Given the description of an element on the screen output the (x, y) to click on. 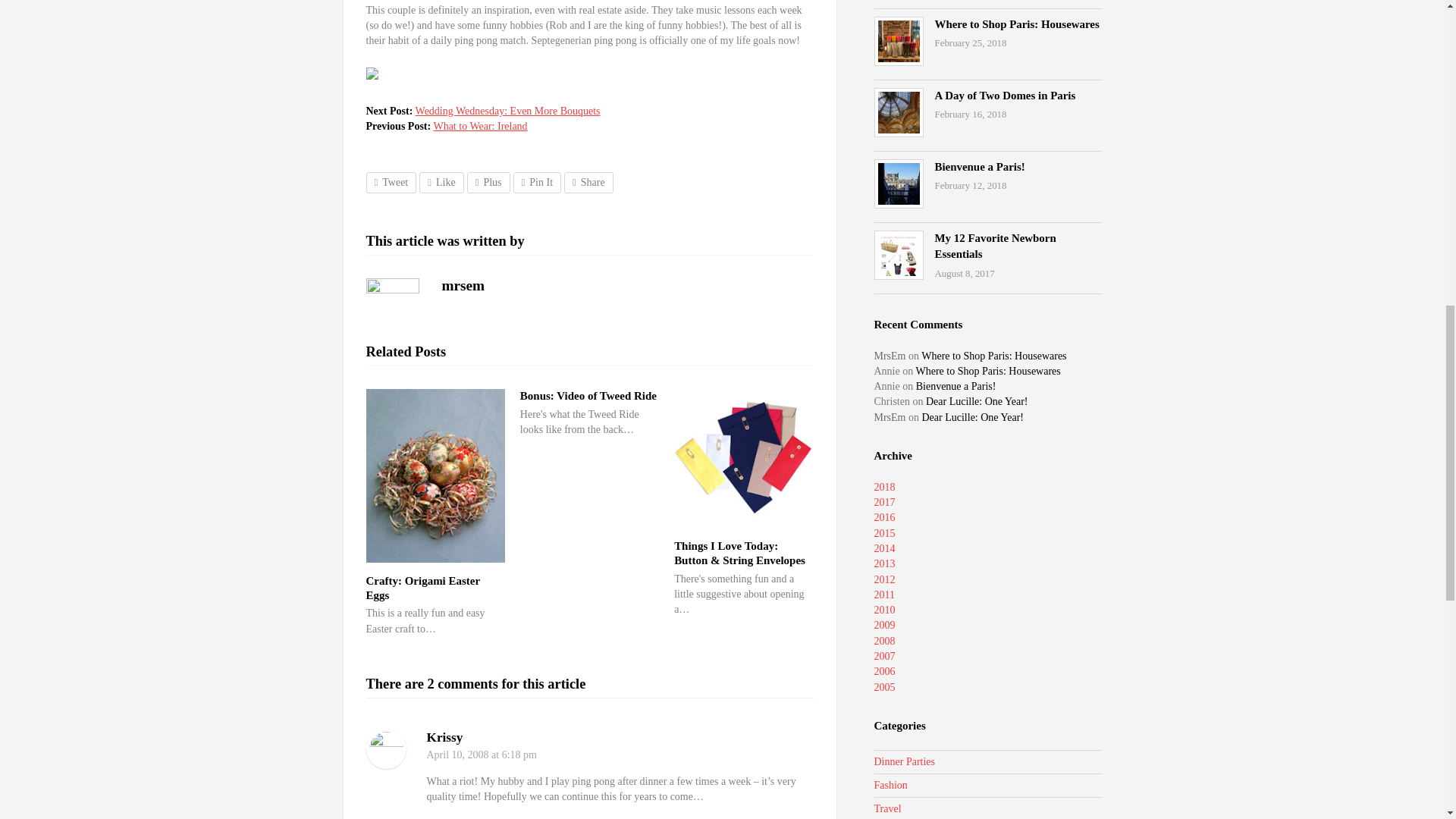
Share on Pinterest (536, 182)
Krissy (444, 737)
Like (441, 182)
Crafty: Origami Easter Eggs (422, 587)
Share on Twitter (390, 182)
Bonus: Video of Tweed Ride (587, 395)
Pin It (536, 182)
mrsem (462, 285)
What to Wear: Ireland (479, 125)
Share (588, 182)
